Given the description of an element on the screen output the (x, y) to click on. 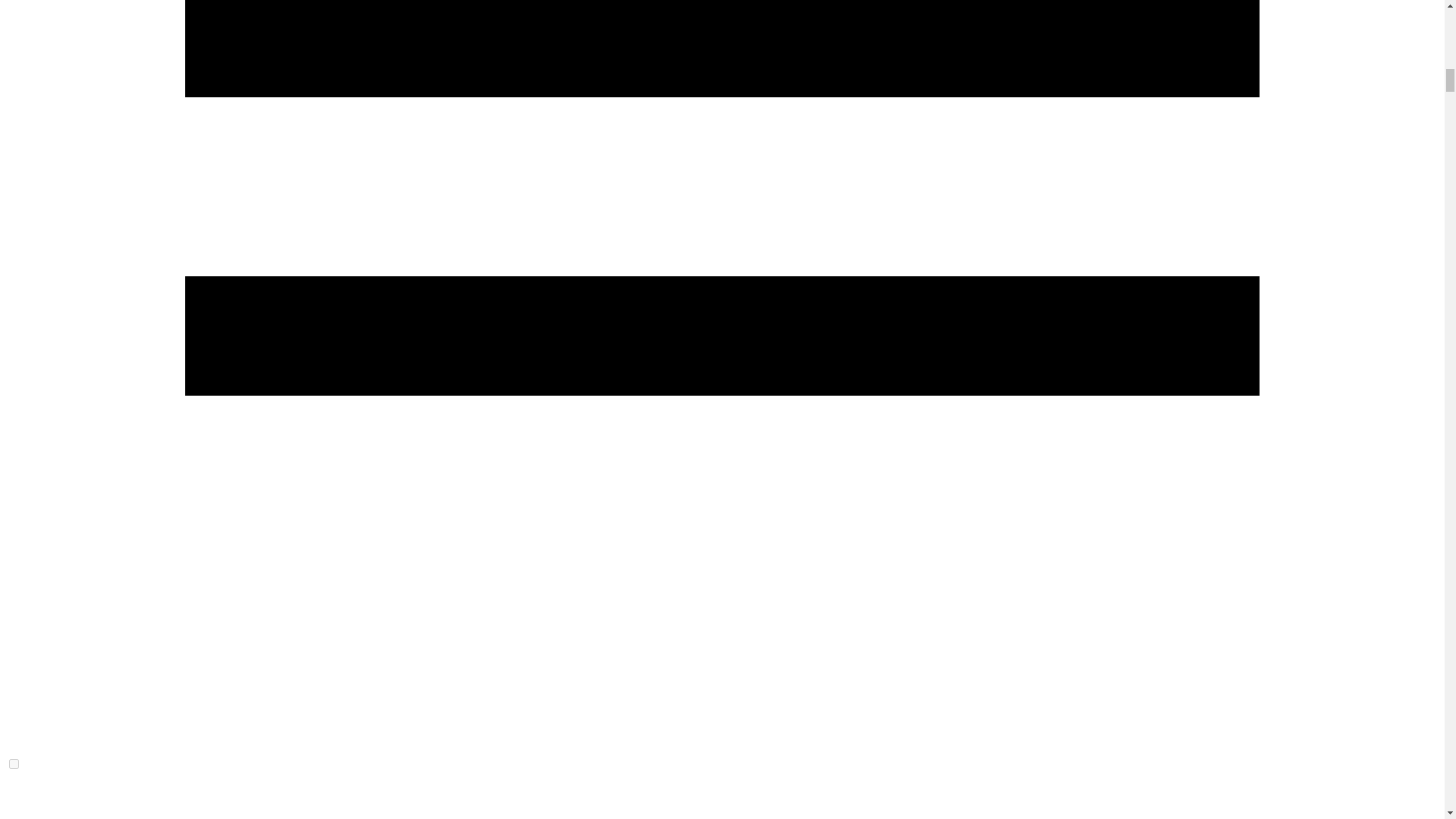
on (13, 764)
